Given the description of an element on the screen output the (x, y) to click on. 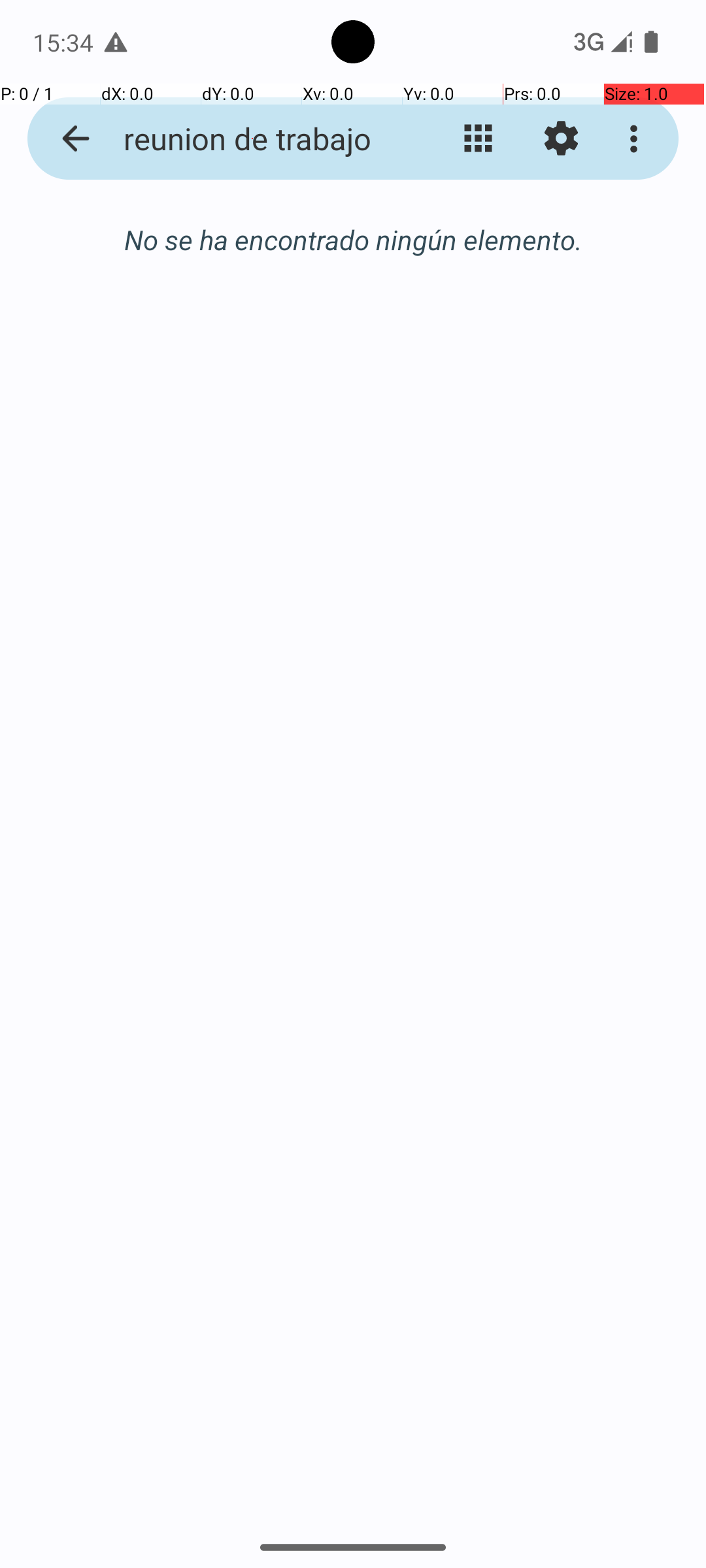
reunion de trabajo Element type: android.widget.EditText (252, 138)
Cambiar vista Element type: android.widget.Button (477, 138)
Ajustes Element type: android.widget.Button (560, 138)
Más opciones Element type: android.widget.ImageView (636, 138)
Nuevo evento Element type: android.widget.ImageButton (630, 1451)
Octubre Element type: android.widget.TextView (352, 239)
No se ha encontrado ningún elemento. Element type: android.widget.TextView (353, 239)
